Given the description of an element on the screen output the (x, y) to click on. 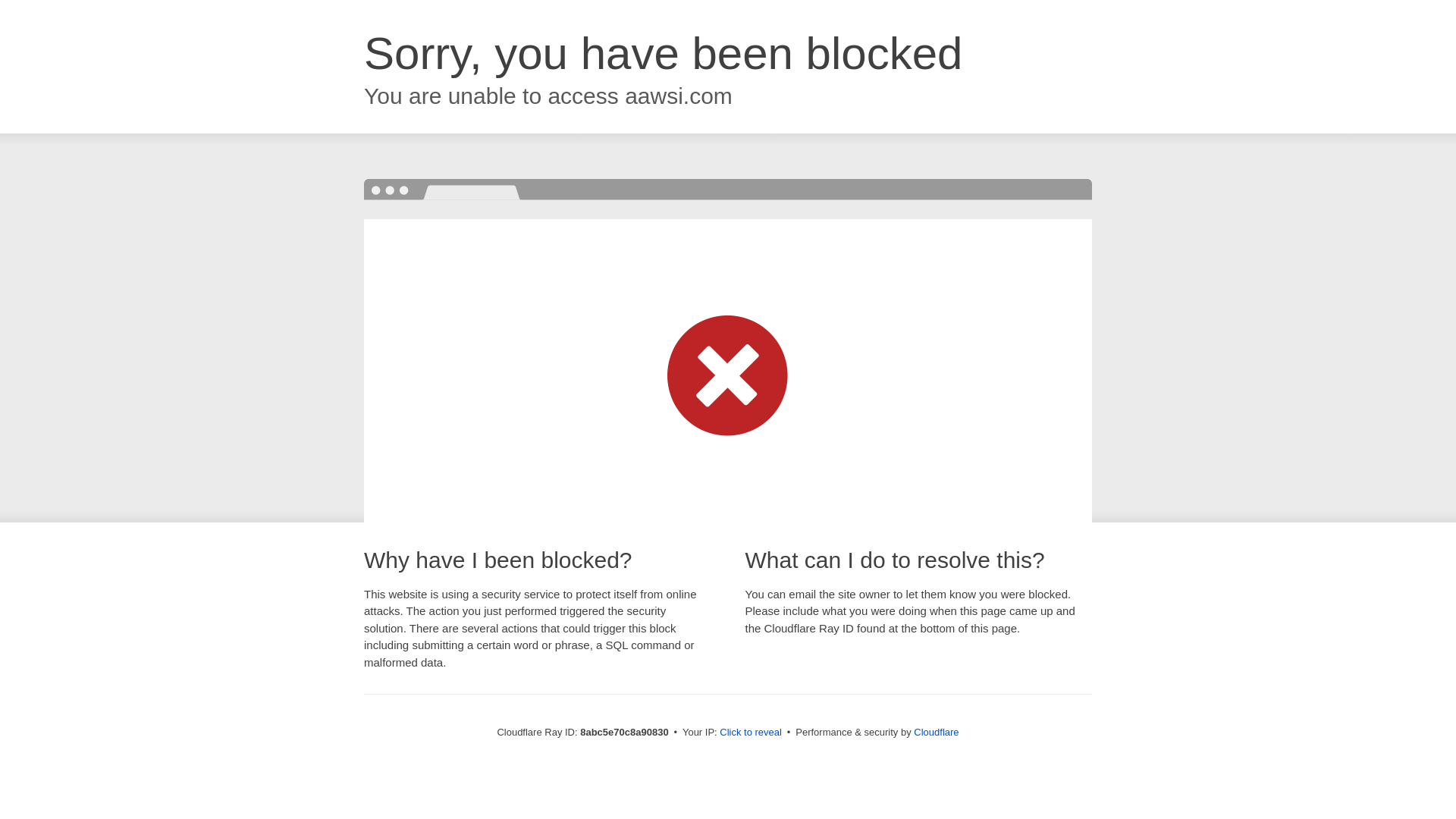
Click to reveal (750, 732)
Cloudflare (936, 731)
